Given the description of an element on the screen output the (x, y) to click on. 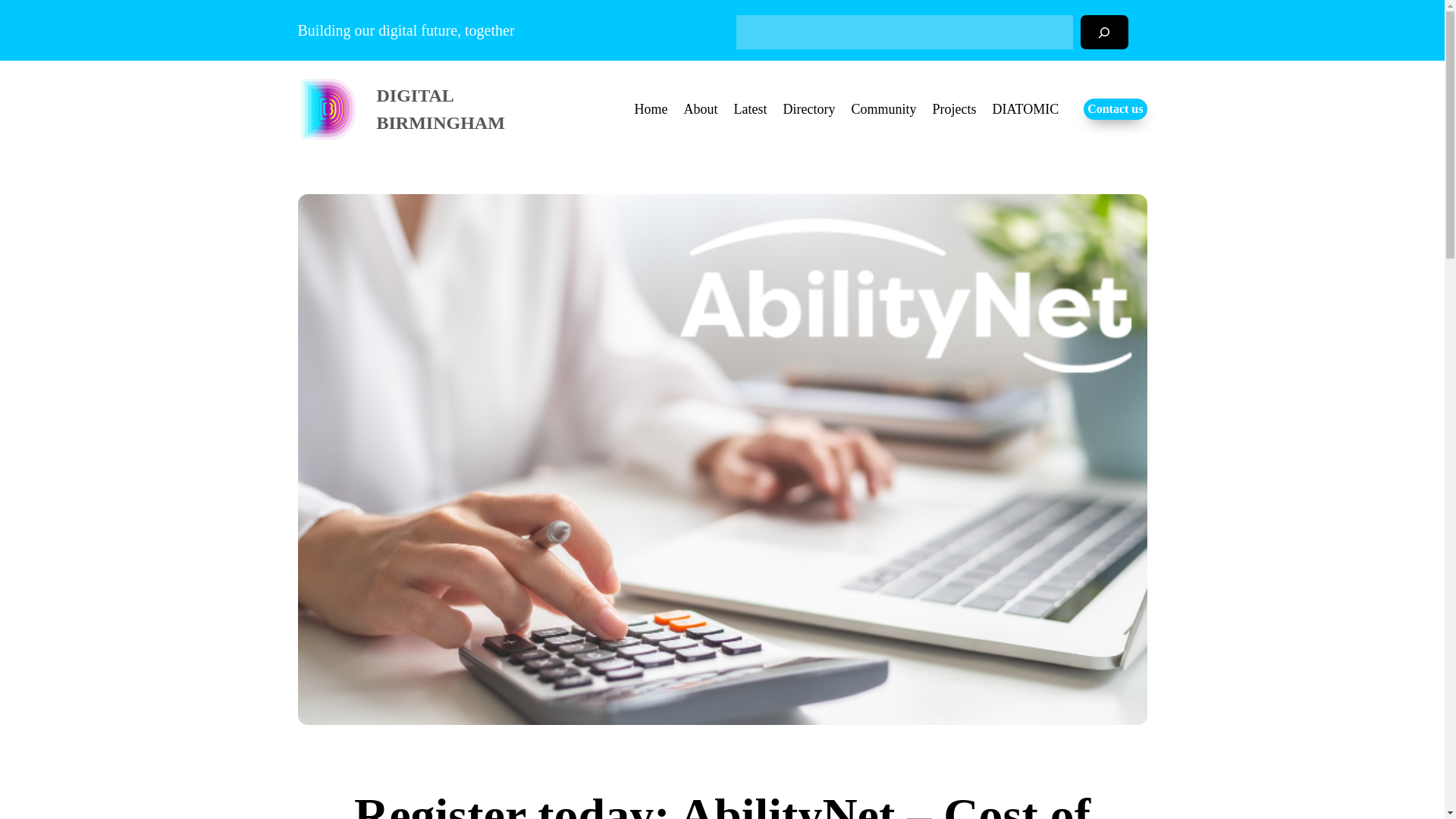
Home (651, 109)
About (701, 109)
DIATOMIC (1025, 109)
Latest (750, 109)
Community (883, 109)
DIGITAL BIRMINGHAM (439, 108)
Directory (809, 109)
Projects (953, 109)
Contact us (1115, 108)
